Given the description of an element on the screen output the (x, y) to click on. 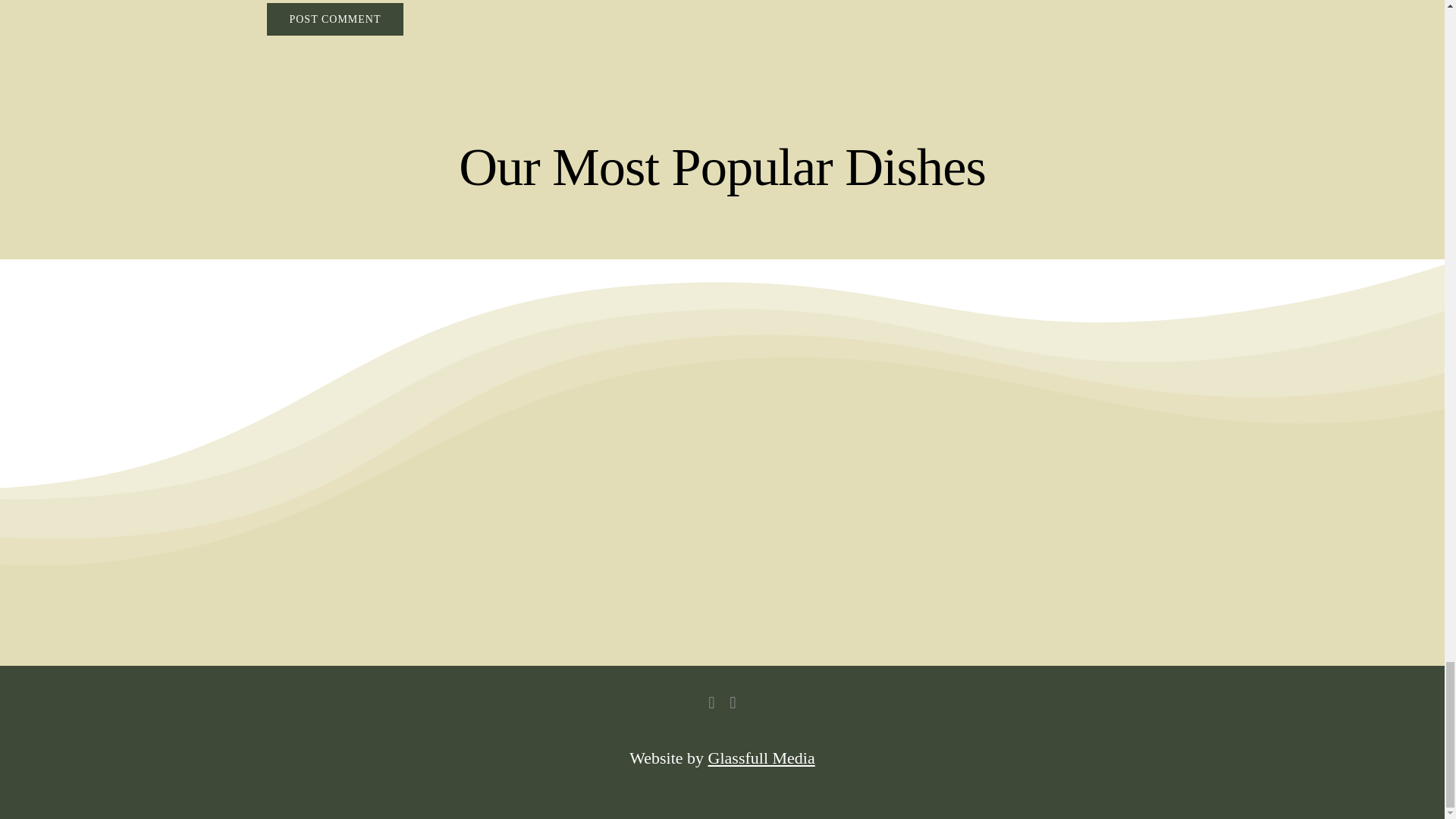
Glassfull Media (761, 757)
Post Comment (334, 19)
Post Comment (334, 19)
